Given the description of an element on the screen output the (x, y) to click on. 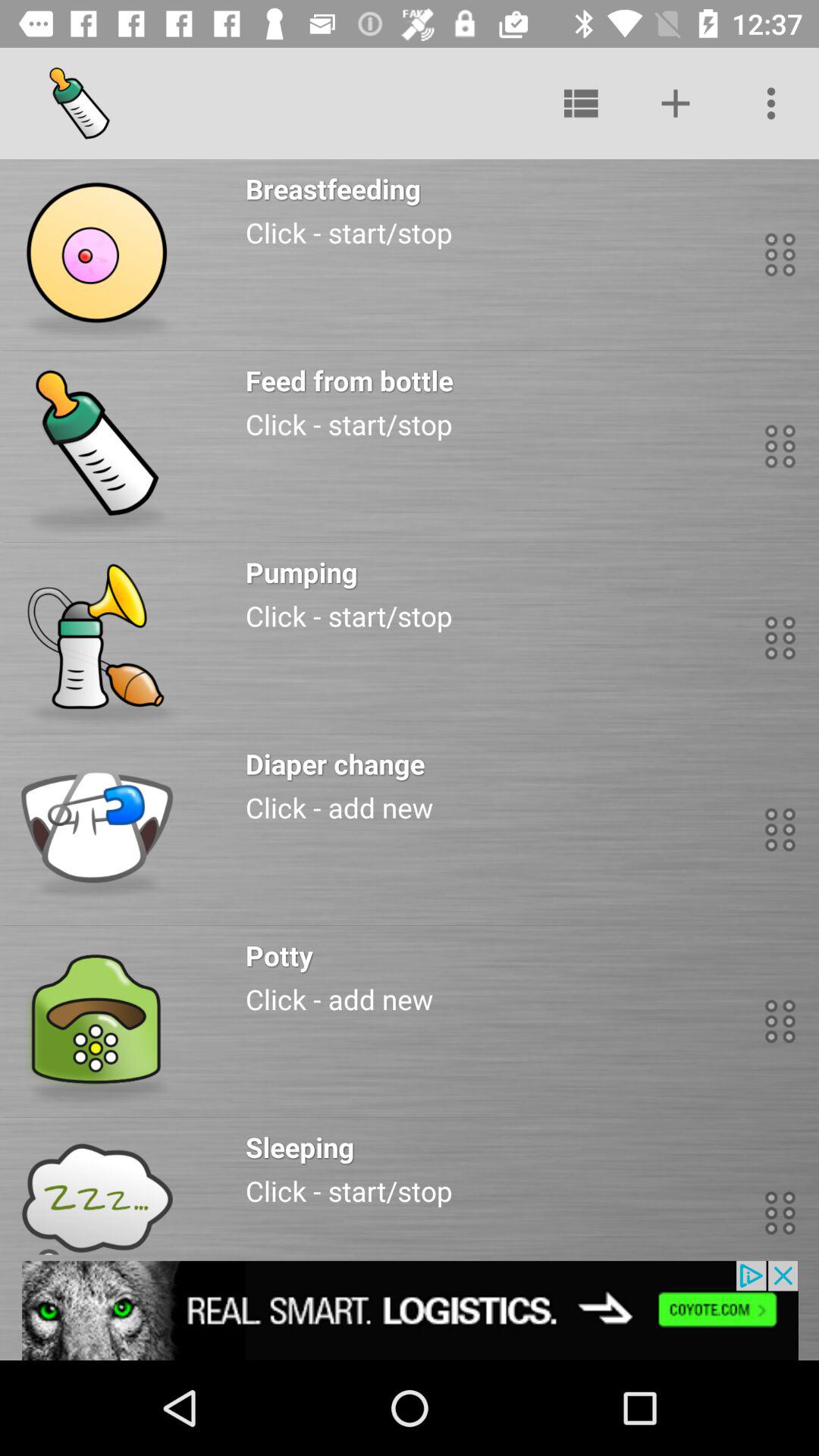
announcement (409, 1310)
